Given the description of an element on the screen output the (x, y) to click on. 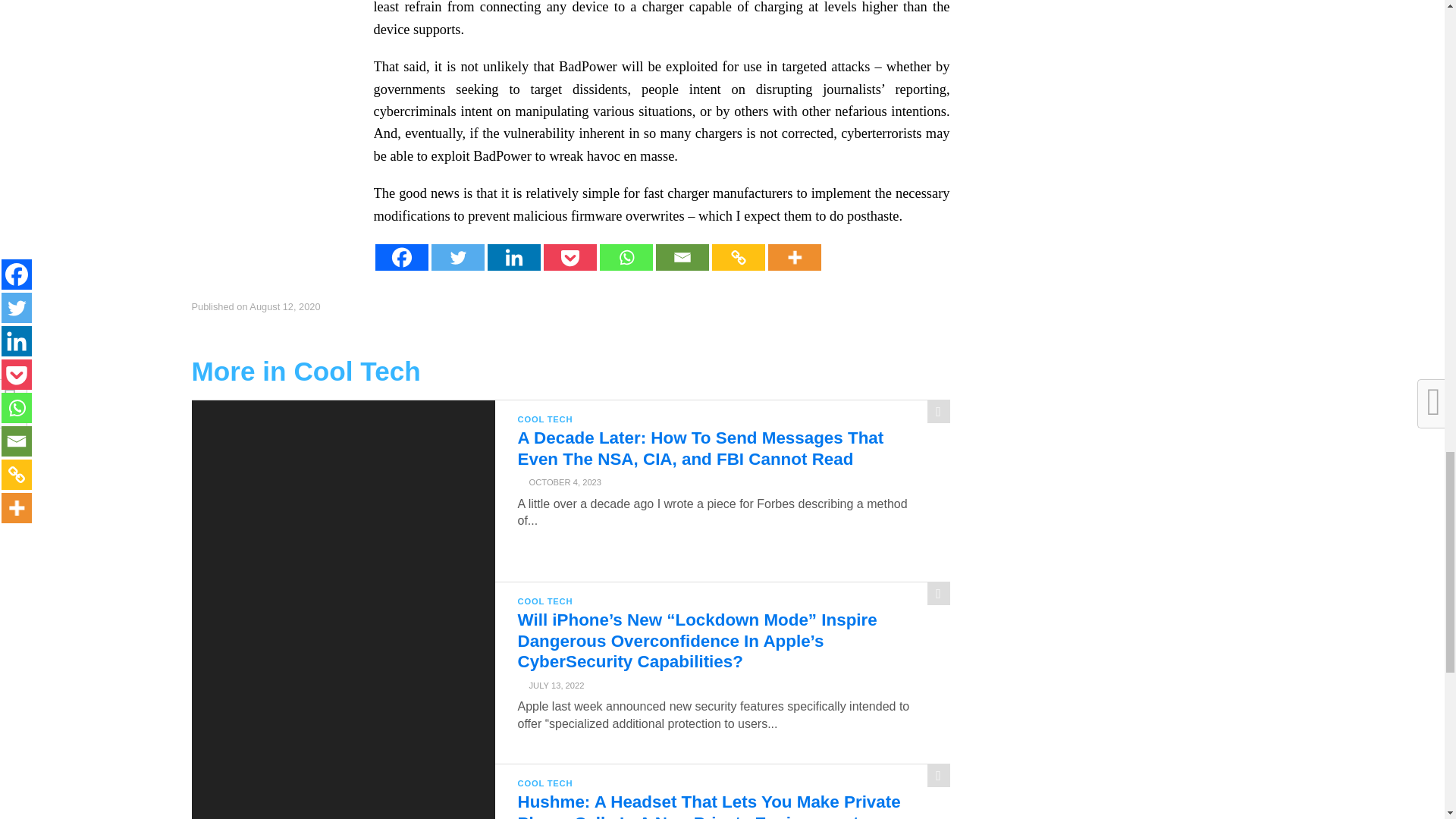
Email (681, 257)
Whatsapp (625, 257)
Twitter (456, 257)
More (794, 257)
Copy Link (737, 257)
Pocket (569, 257)
Linkedin (513, 257)
Facebook (401, 257)
